Given the description of an element on the screen output the (x, y) to click on. 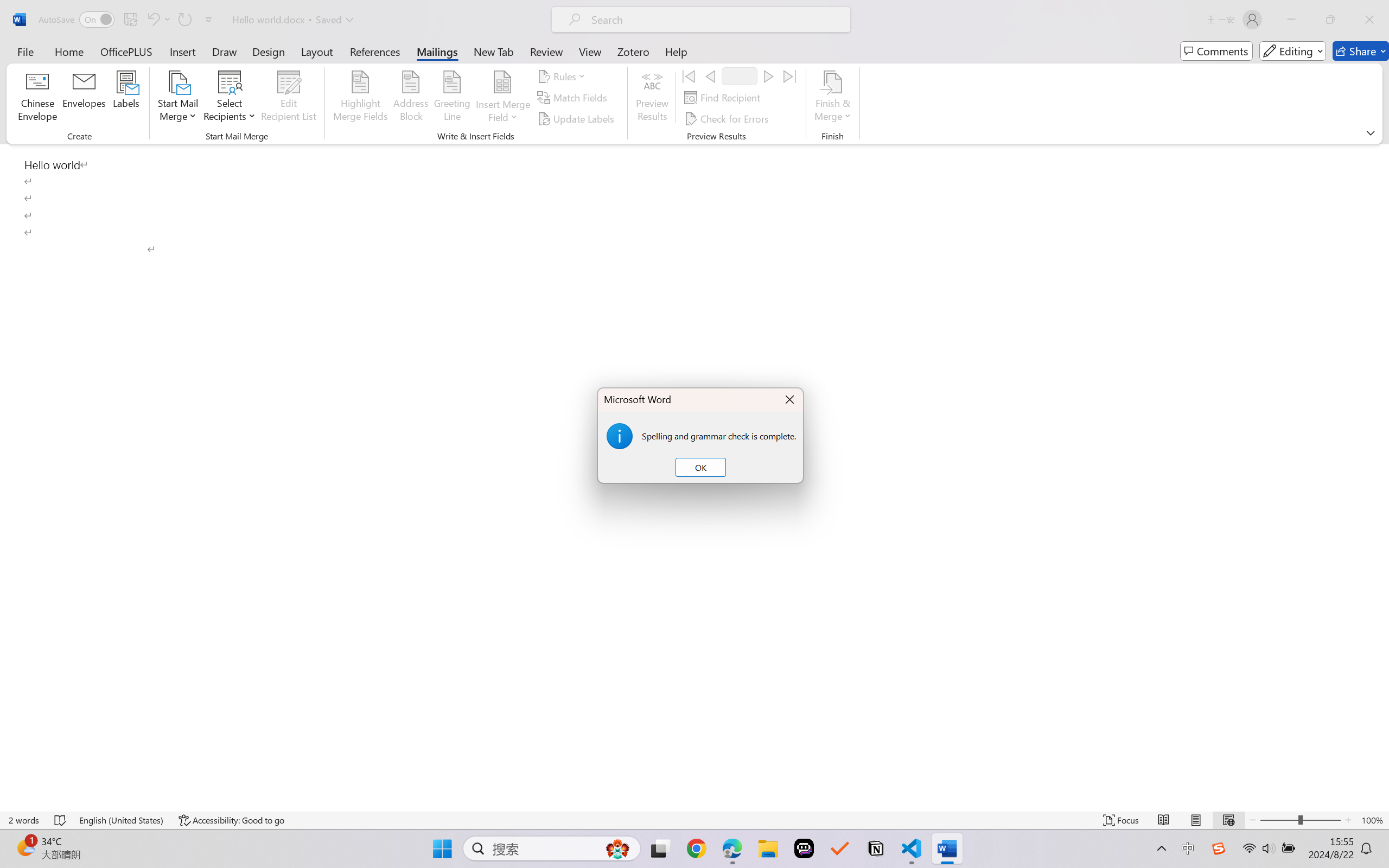
Check for Errors... (728, 118)
Record (739, 76)
Last (790, 75)
OK (700, 467)
Zoom In (1348, 819)
Rules (563, 75)
Read Mode (1163, 819)
Next (768, 75)
Insert (182, 51)
